Given the description of an element on the screen output the (x, y) to click on. 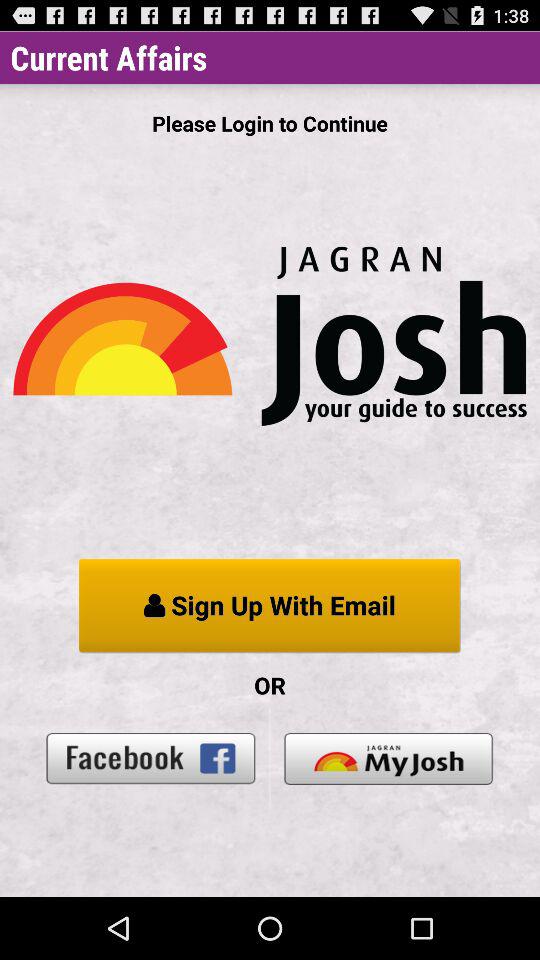
shows my josh option (388, 758)
